Given the description of an element on the screen output the (x, y) to click on. 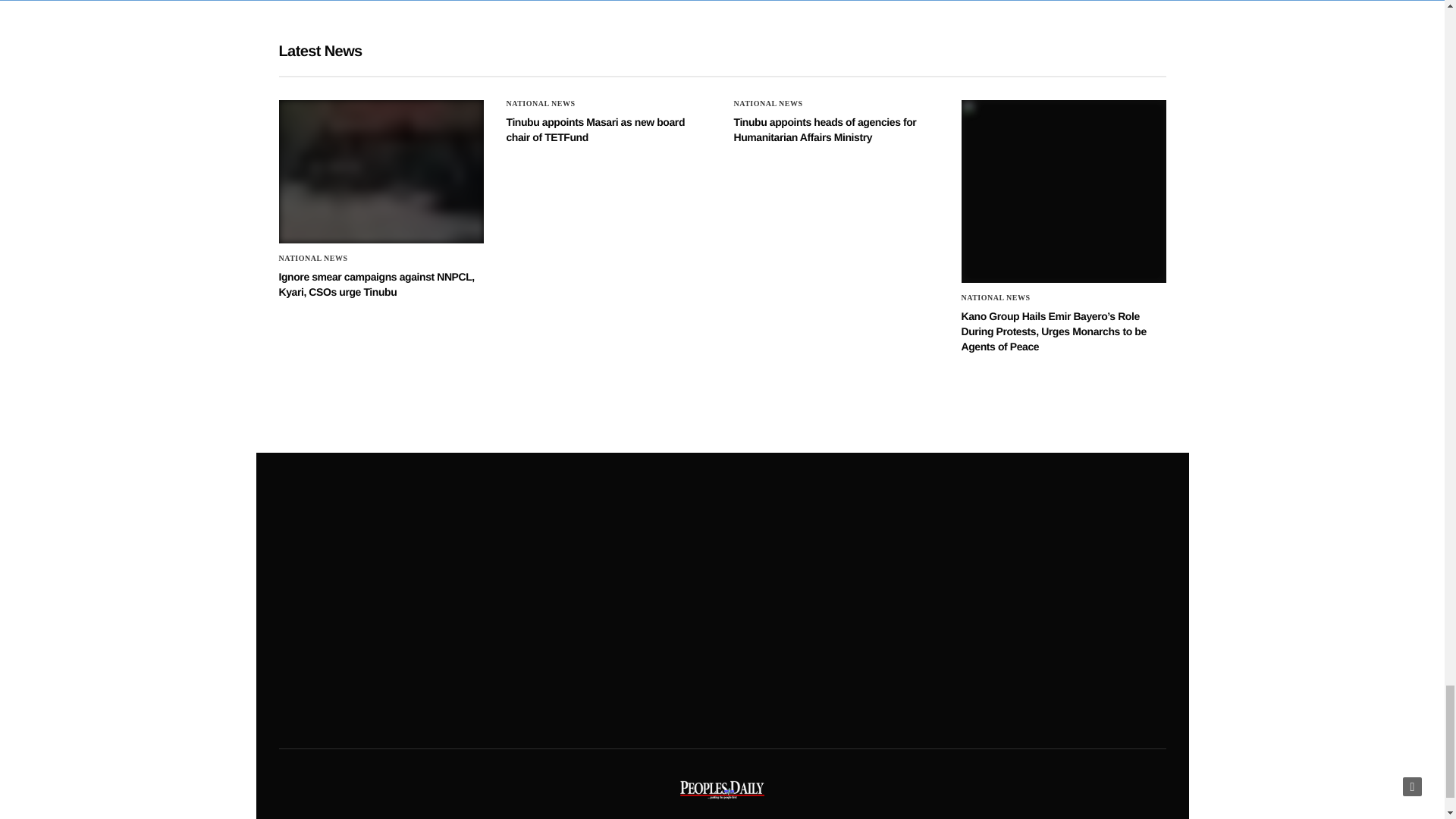
National News (313, 258)
National News (540, 103)
Tinubu appoints Masari as new board chair of TETFund (595, 129)
National News (768, 103)
